Given the description of an element on the screen output the (x, y) to click on. 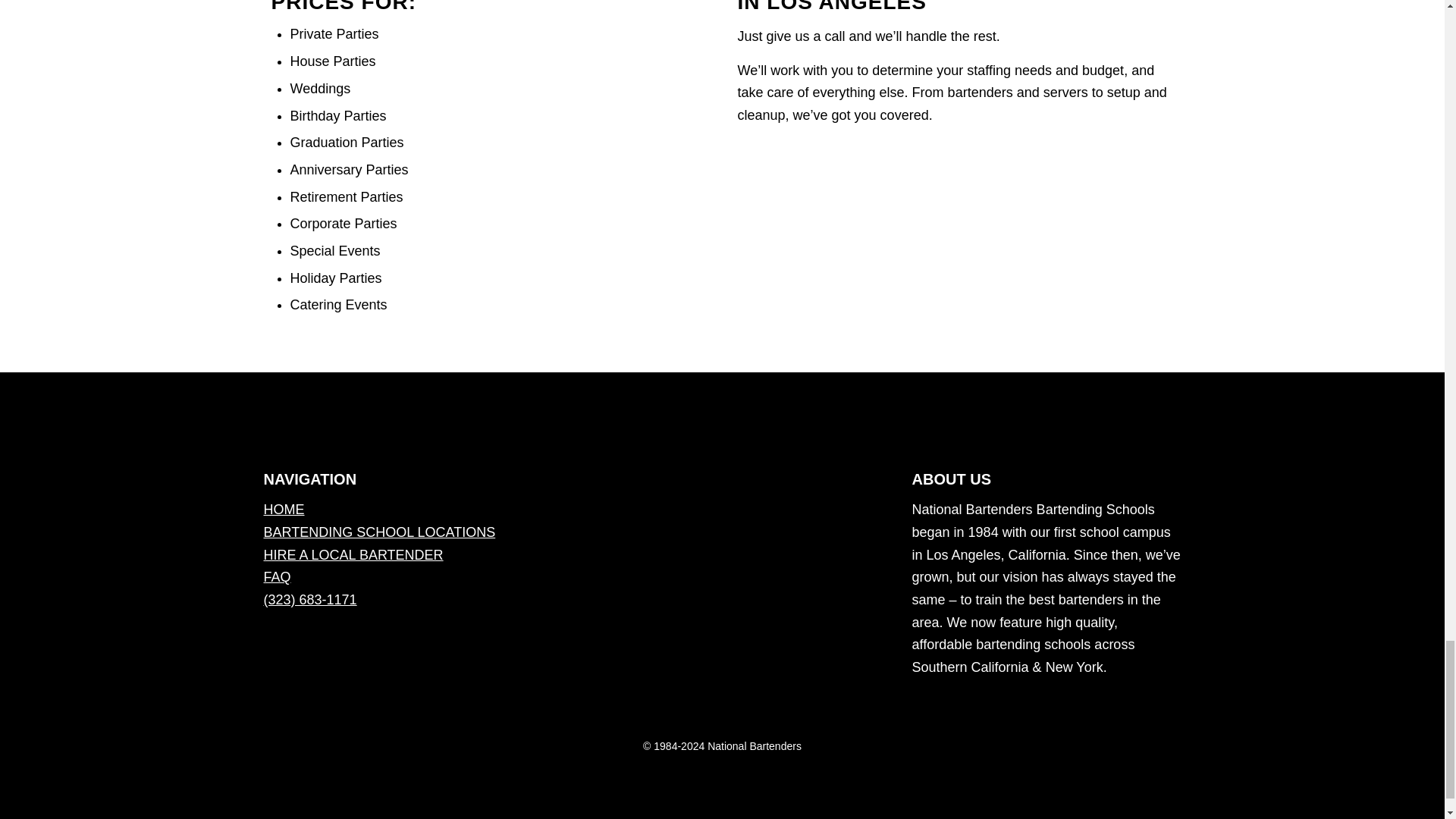
BARTENDING SCHOOL LOCATIONS (379, 531)
HOME (283, 509)
FAQ (277, 576)
HIRE A LOCAL BARTENDER (353, 554)
